Given the description of an element on the screen output the (x, y) to click on. 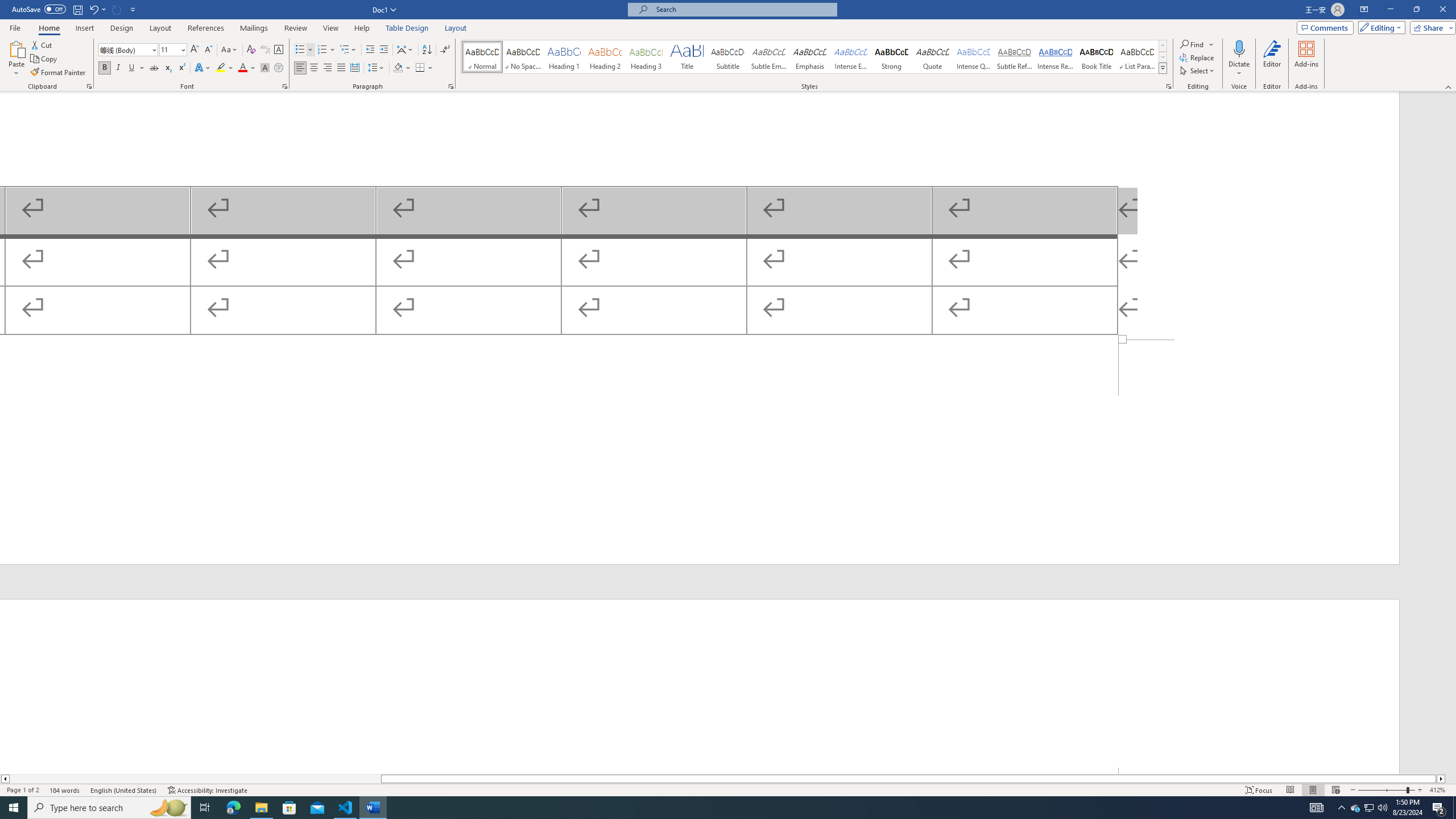
Can't Repeat (117, 9)
